Given the description of an element on the screen output the (x, y) to click on. 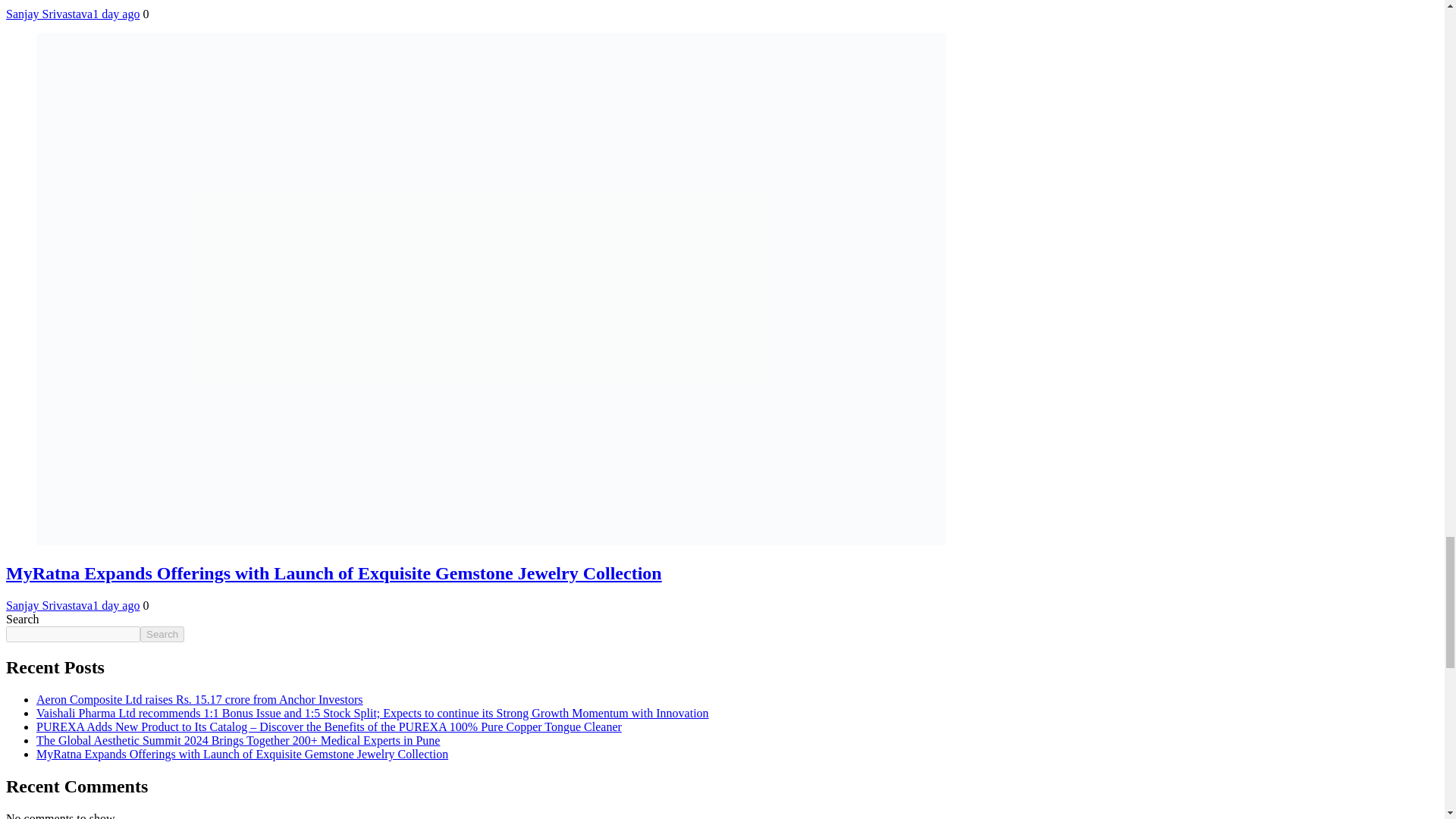
Sanjay Srivastava (49, 13)
1 day ago (116, 13)
Search (161, 634)
1 day ago (116, 604)
Sanjay Srivastava (49, 604)
